Given the description of an element on the screen output the (x, y) to click on. 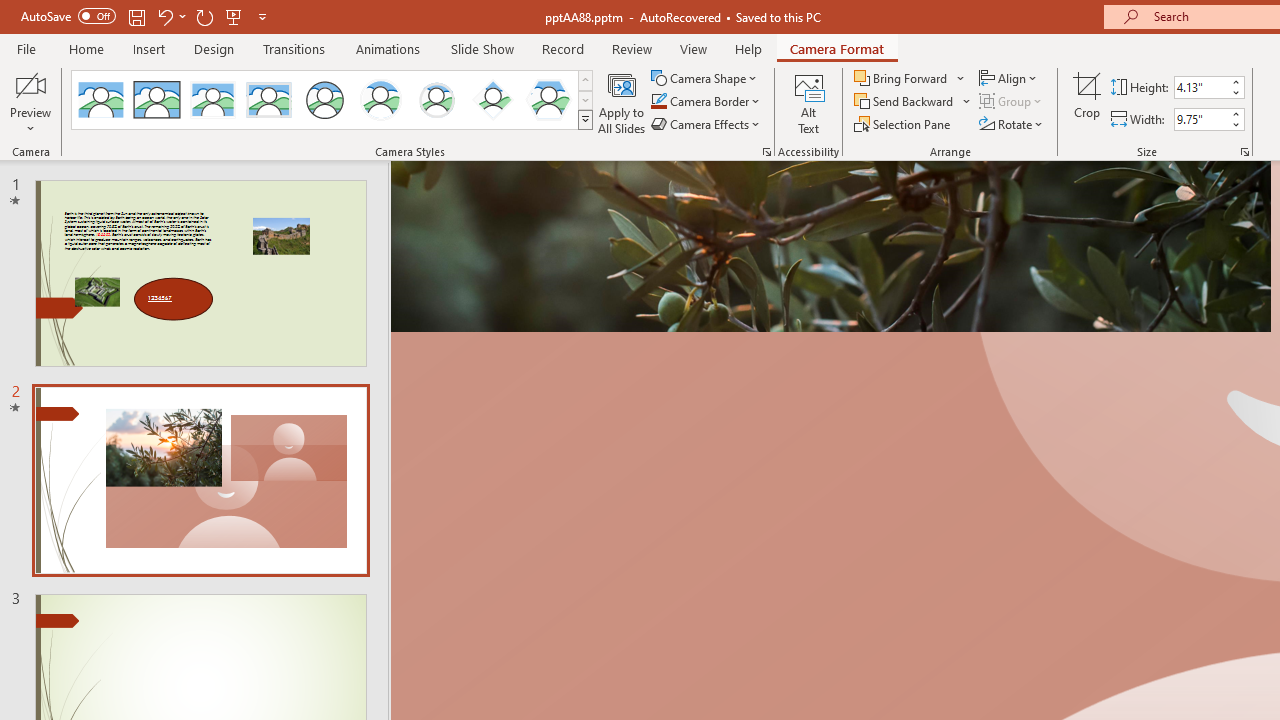
Apply to All Slides (621, 102)
Center Shadow Rectangle (212, 100)
Center Shadow Hexagon (548, 100)
